Given the description of an element on the screen output the (x, y) to click on. 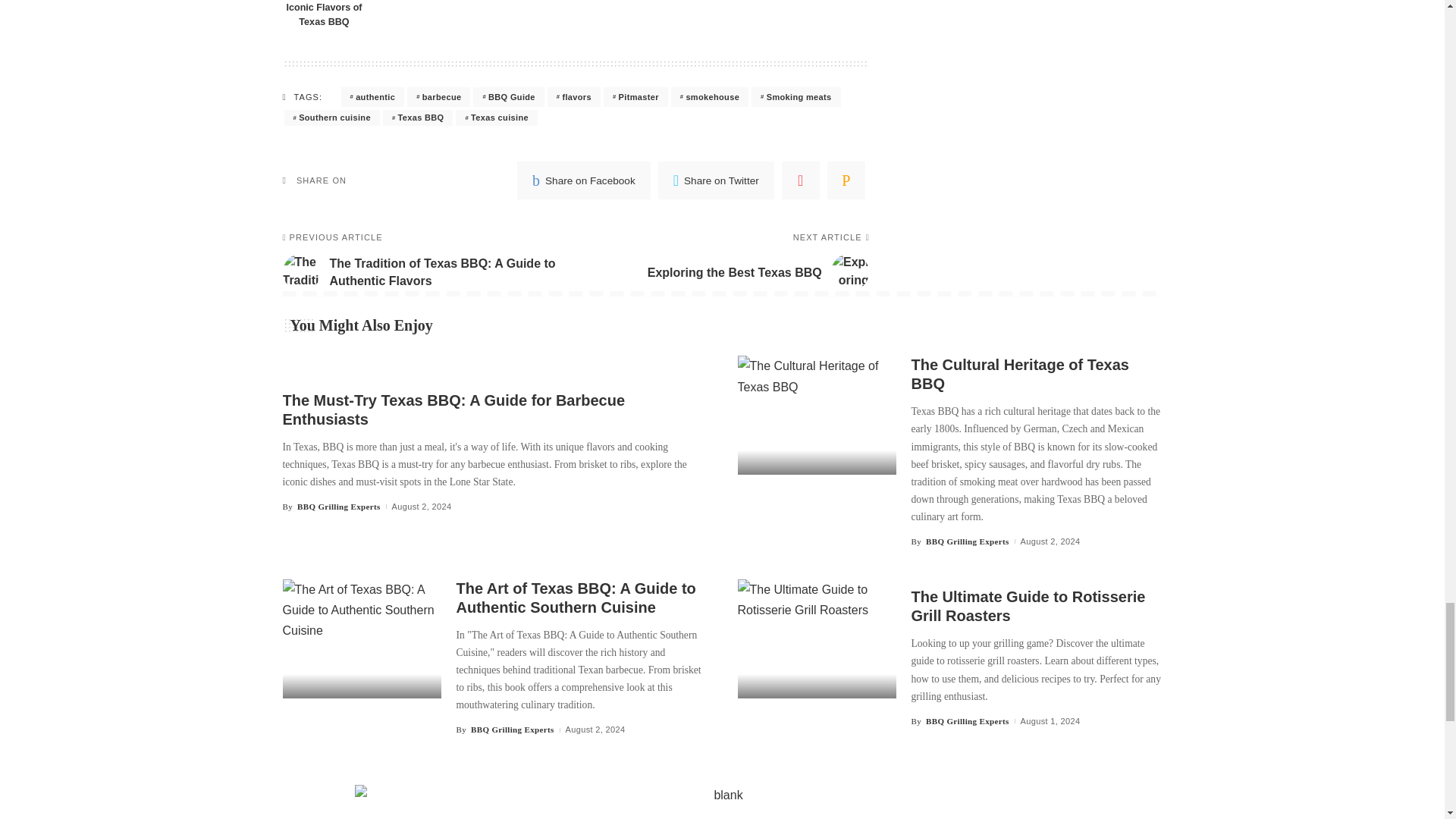
smokehouse (709, 96)
Southern cuisine (330, 117)
Texas BBQ (417, 117)
authentic (372, 96)
barbecue (438, 96)
flavors (573, 96)
BBQ Guide (508, 96)
authentic (372, 96)
Smoking meats (795, 96)
Pitmaster (636, 96)
